Given the description of an element on the screen output the (x, y) to click on. 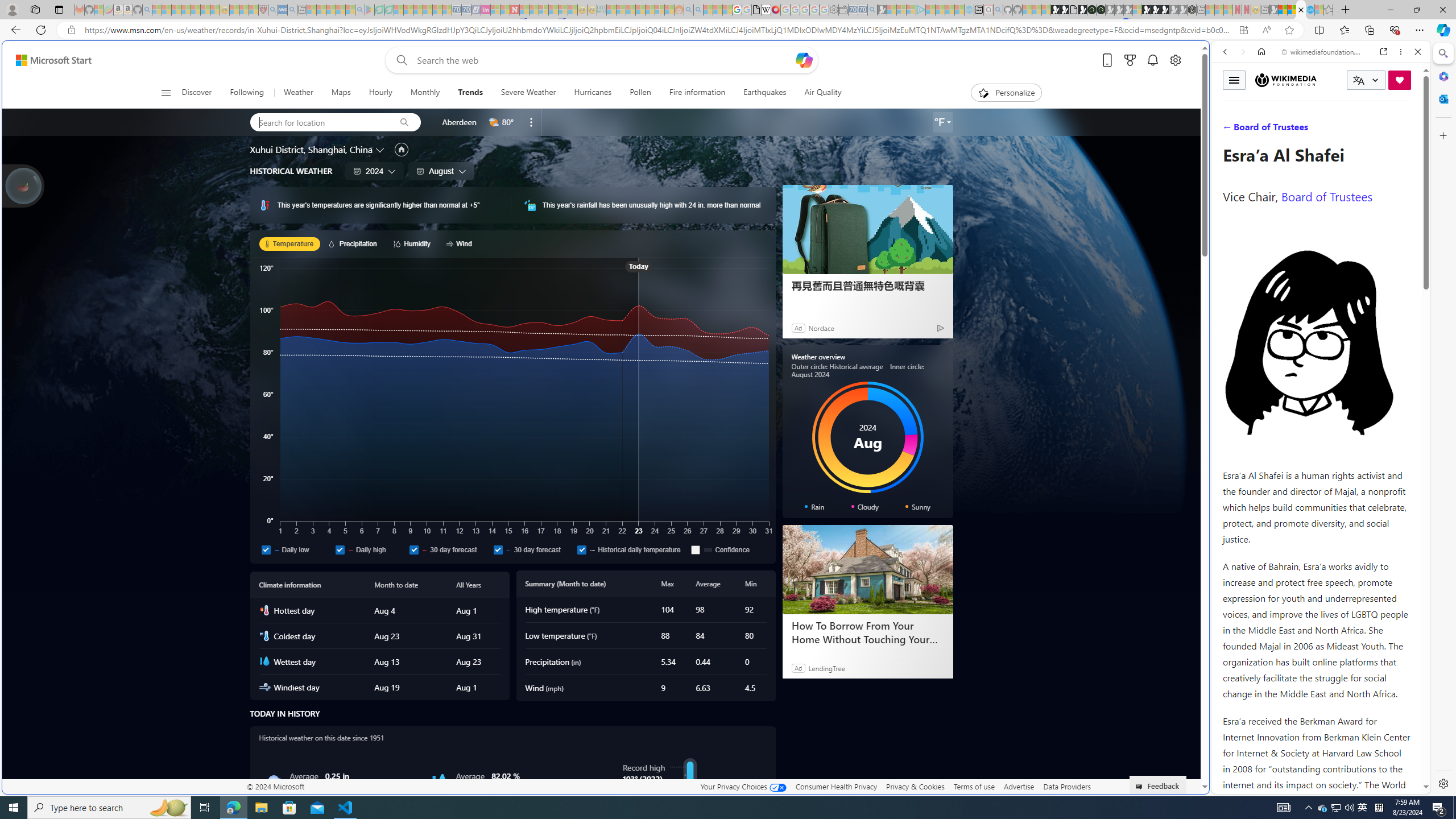
Search or enter web address (922, 108)
Weather settings (942, 122)
Aberdeen (459, 121)
2024 (374, 170)
Close split screen (1208, 57)
